Given the description of an element on the screen output the (x, y) to click on. 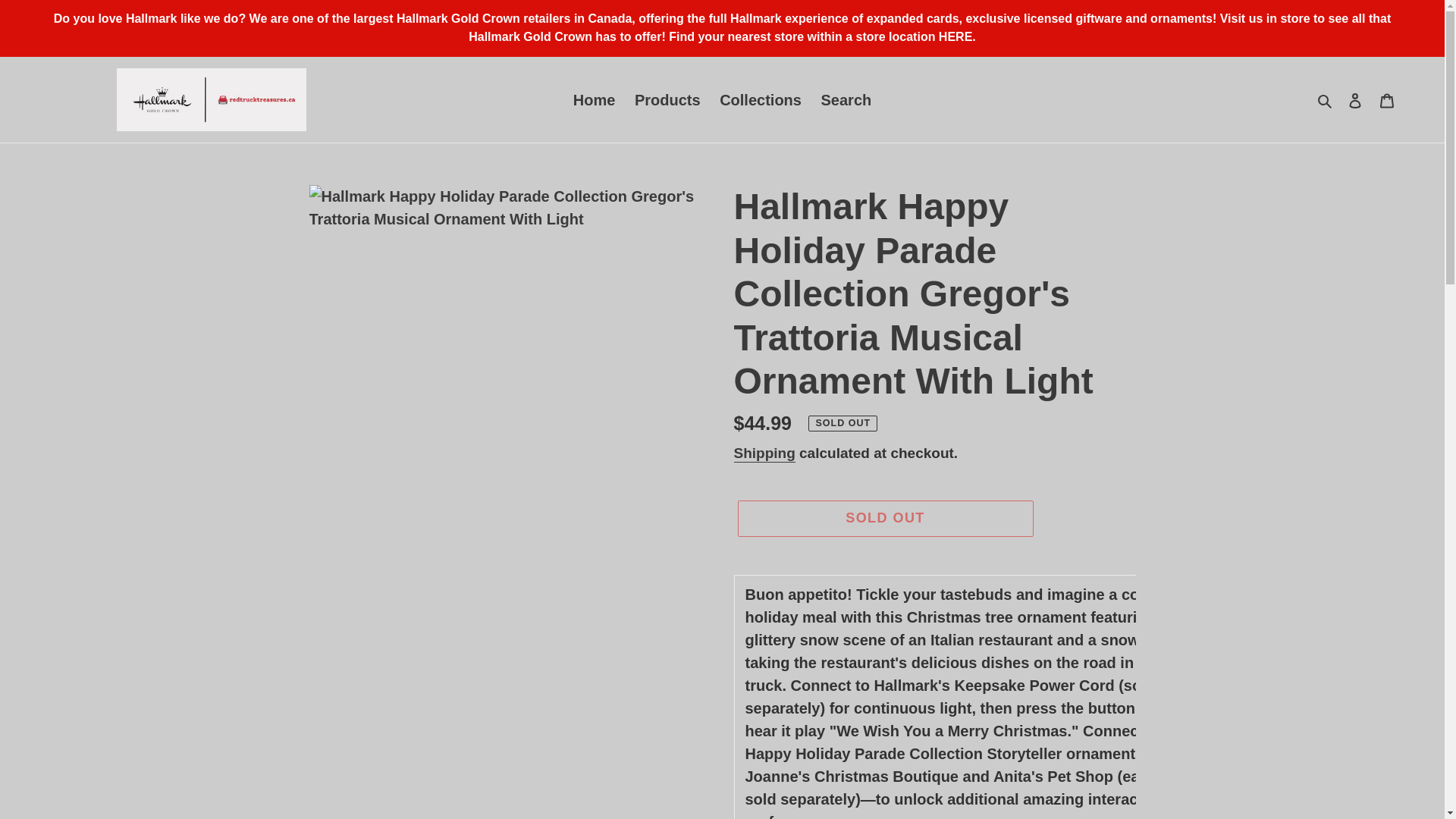
Products (667, 99)
Collections (760, 99)
Shipping (763, 453)
Search (1326, 99)
Home (594, 99)
SOLD OUT (884, 518)
Search (846, 99)
